Given the description of an element on the screen output the (x, y) to click on. 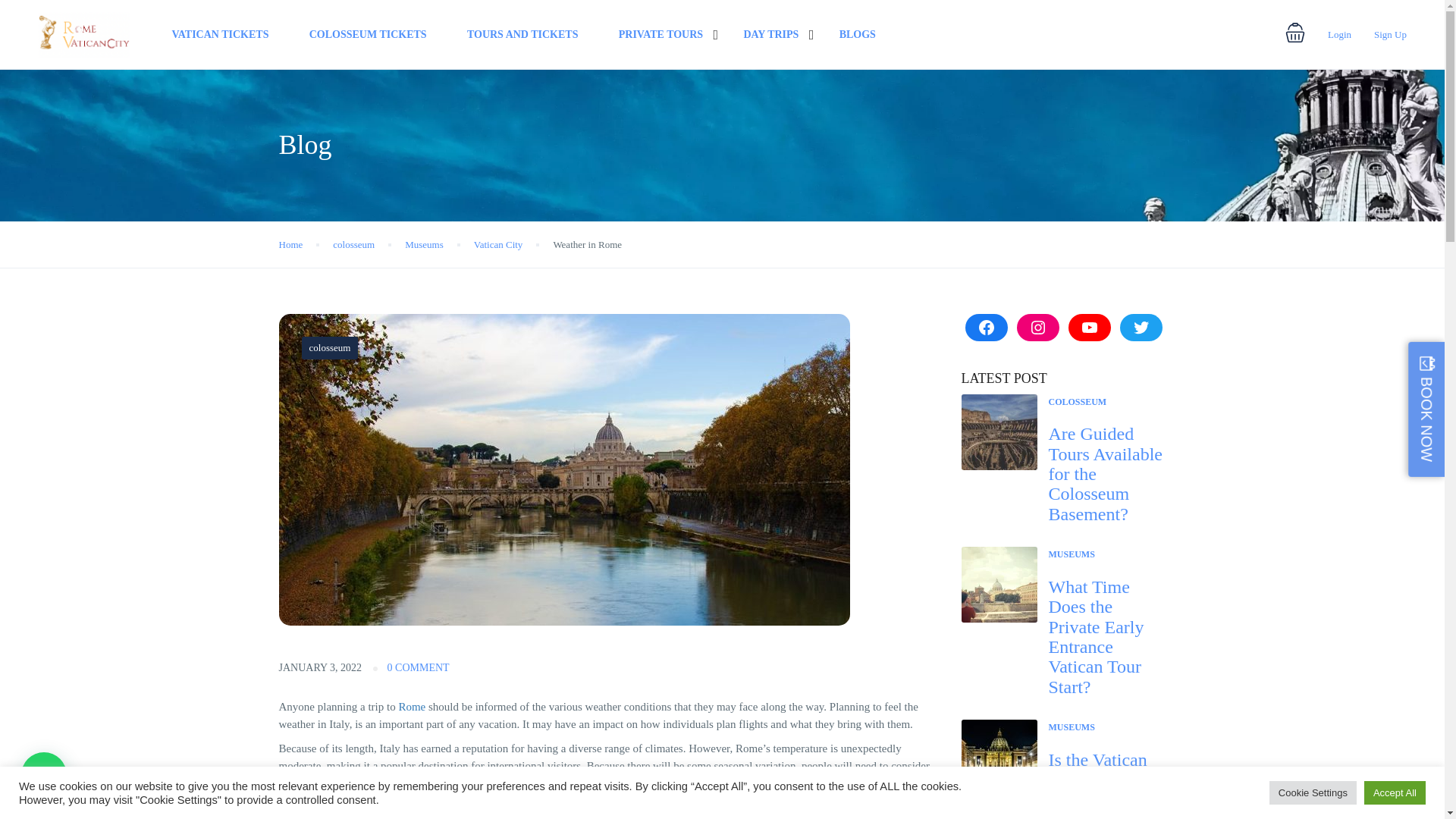
PRIVATE TOURS (660, 34)
YouTube (1088, 327)
Login (1339, 34)
colosseum (329, 347)
TOURS AND TICKETS (522, 34)
Vatican City (498, 244)
COLOSSEUM (1077, 401)
Museums (424, 244)
VATICAN TICKETS (219, 34)
Facebook (985, 327)
DAY TRIPS (769, 34)
Home (290, 244)
Instagram (1037, 327)
BLOGS (858, 34)
Rome (411, 706)
